Given the description of an element on the screen output the (x, y) to click on. 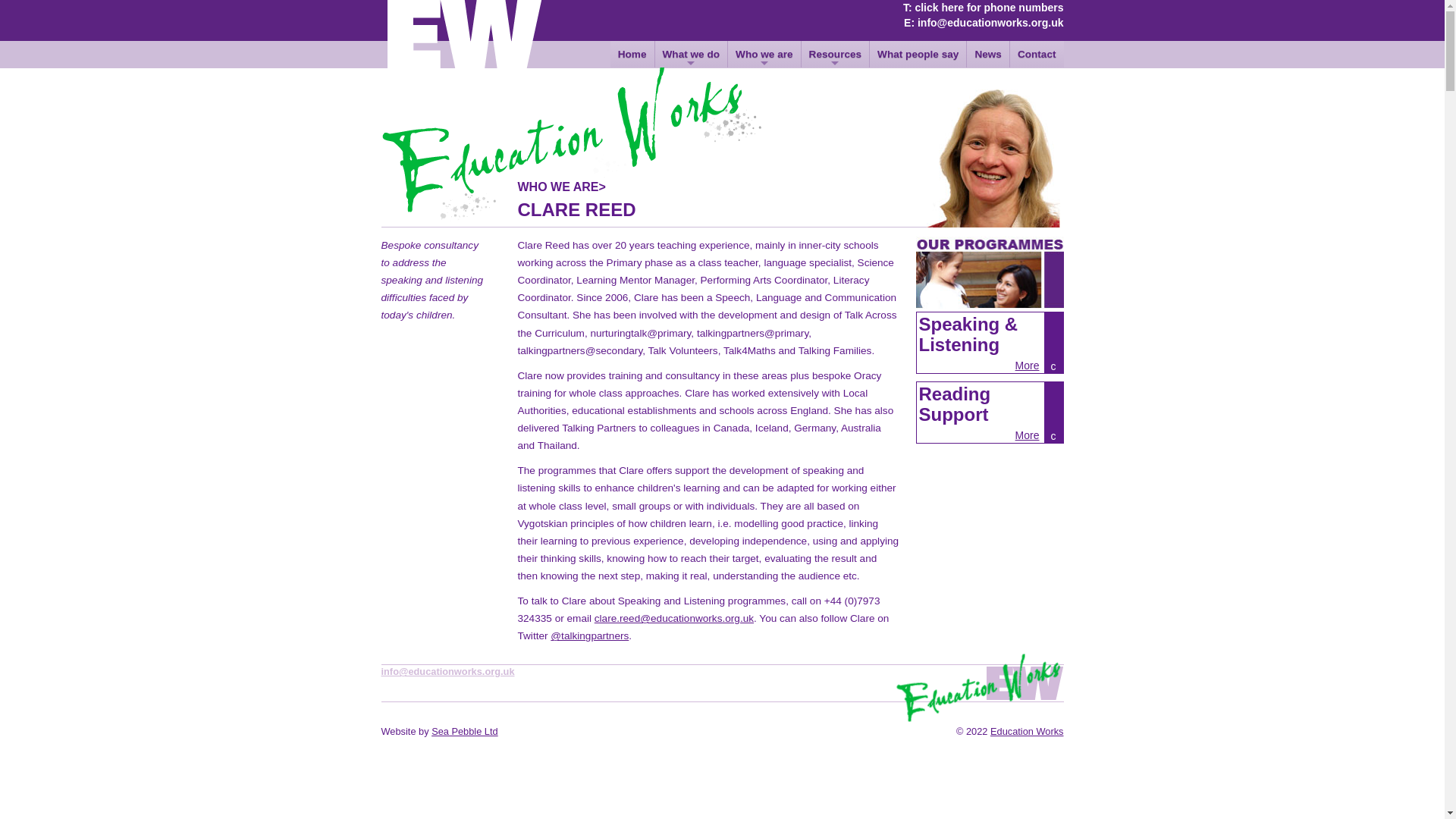
What people say (917, 53)
Contact (1037, 53)
Home (631, 53)
News (987, 53)
